Given the description of an element on the screen output the (x, y) to click on. 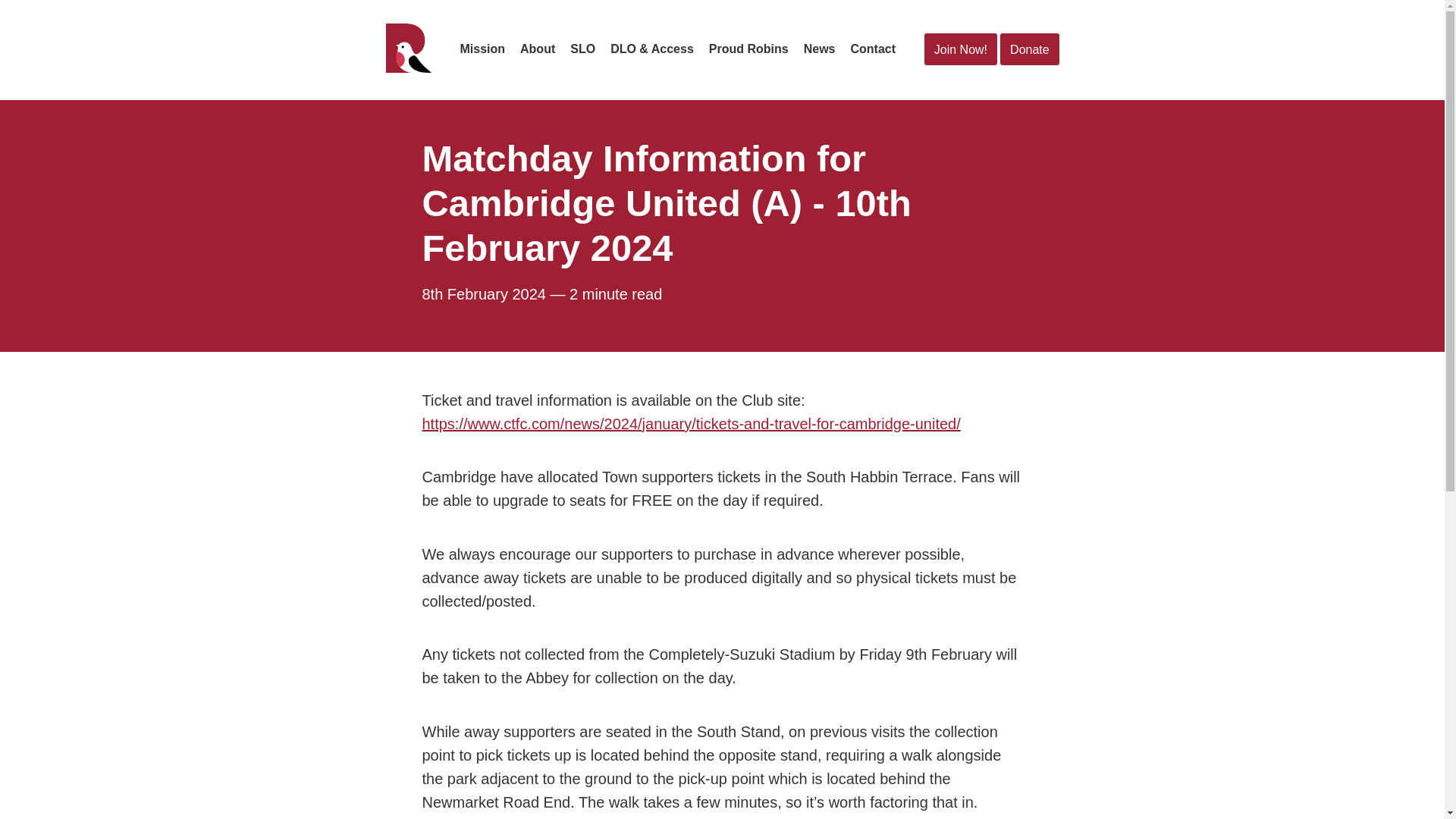
Donate (1029, 49)
Contact (872, 48)
Proud Robins (749, 48)
SLO (582, 48)
About (536, 48)
Mission (482, 48)
Join Now! (960, 49)
News (819, 48)
